Given the description of an element on the screen output the (x, y) to click on. 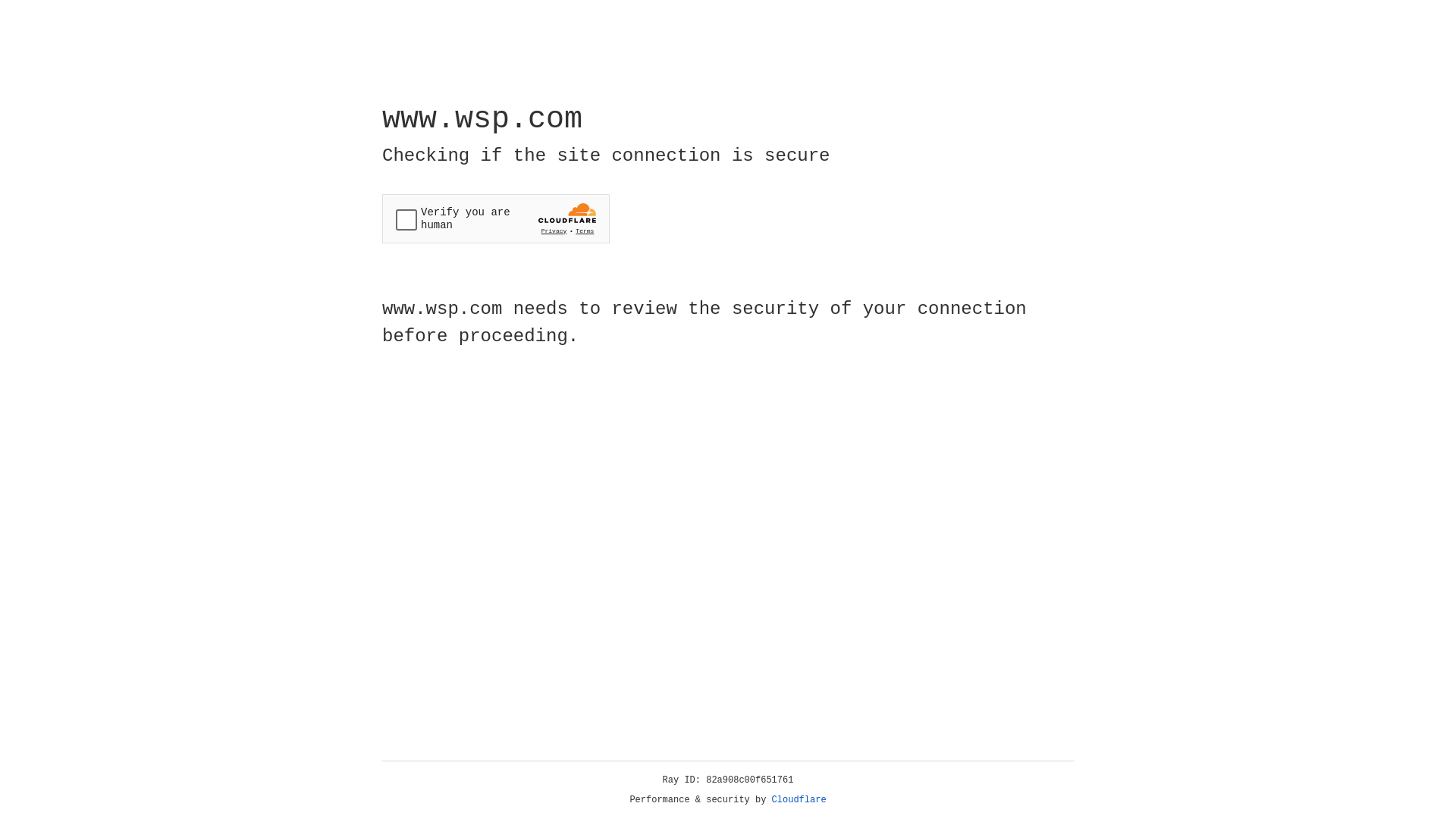
Widget containing a Cloudflare security challenge Element type: hover (495, 218)
Cloudflare Element type: text (798, 799)
